Given the description of an element on the screen output the (x, y) to click on. 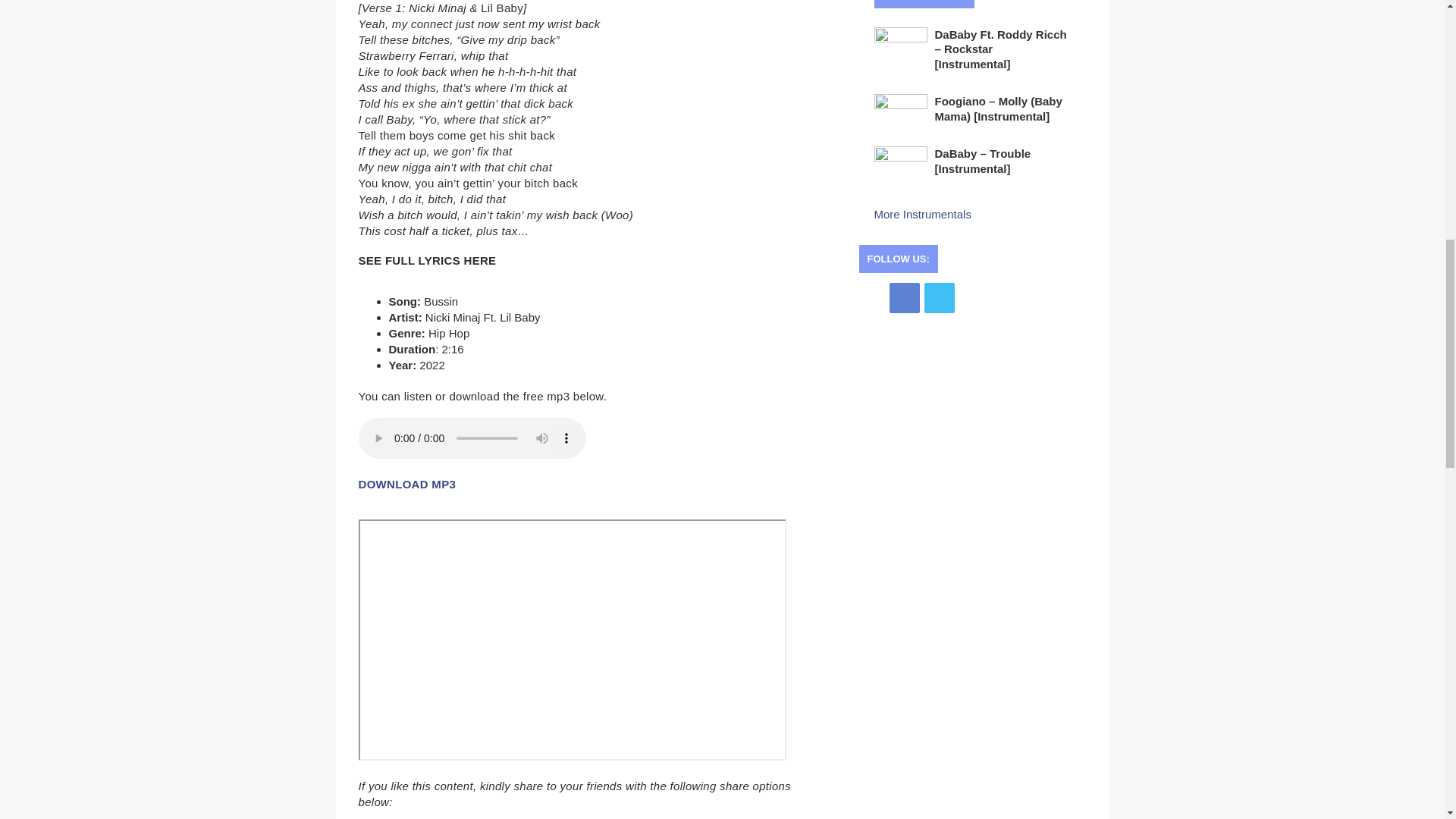
DOWNLOAD MP3 (406, 483)
